Given the description of an element on the screen output the (x, y) to click on. 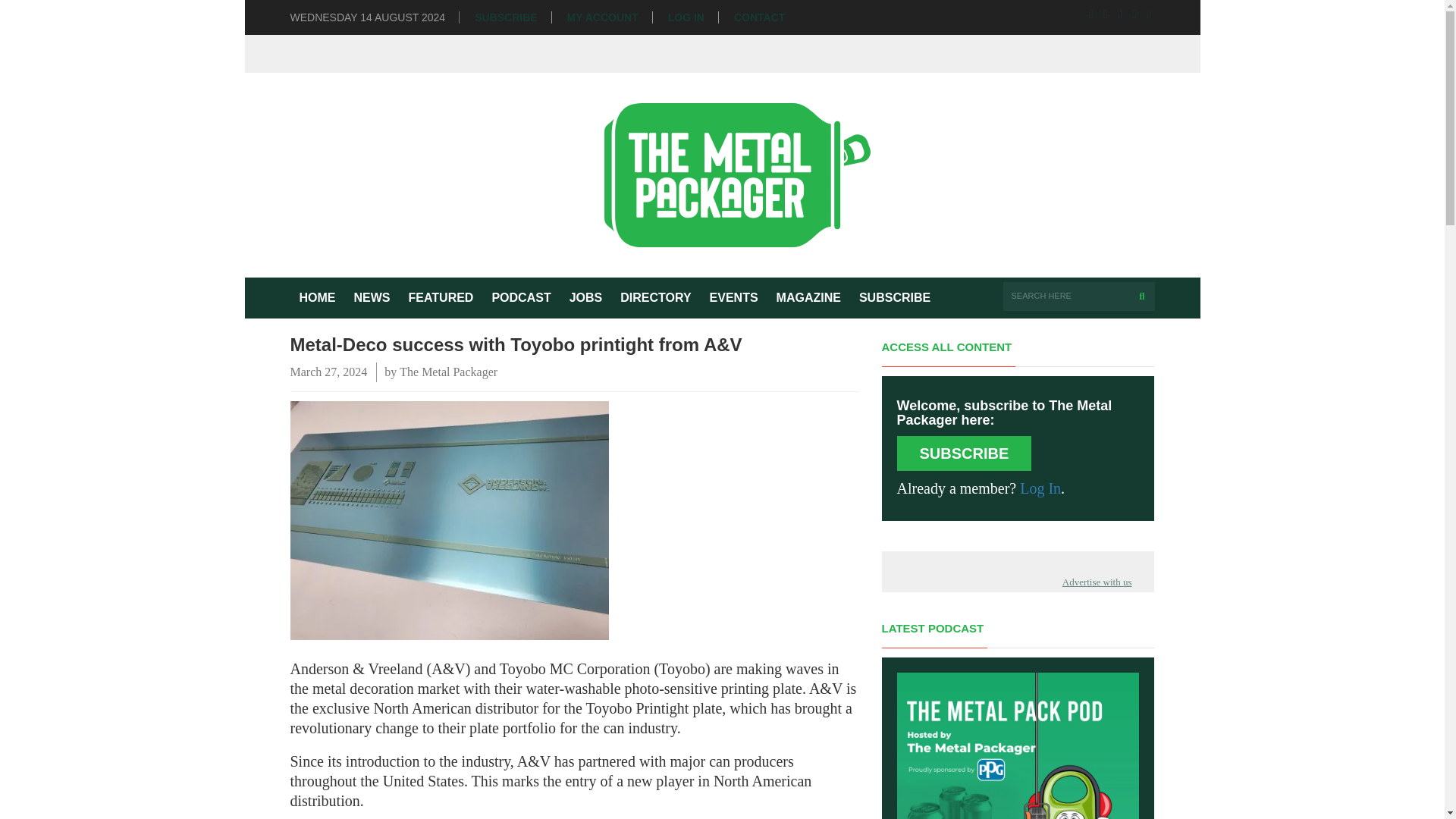
PODCAST (520, 297)
HOME (316, 297)
CONTACT (758, 17)
News (370, 297)
MY ACCOUNT (603, 17)
Jobs (585, 297)
Posts by The Metal Packager (447, 372)
Magazine (808, 297)
Podcast (520, 297)
JOBS (585, 297)
